Given the description of an element on the screen output the (x, y) to click on. 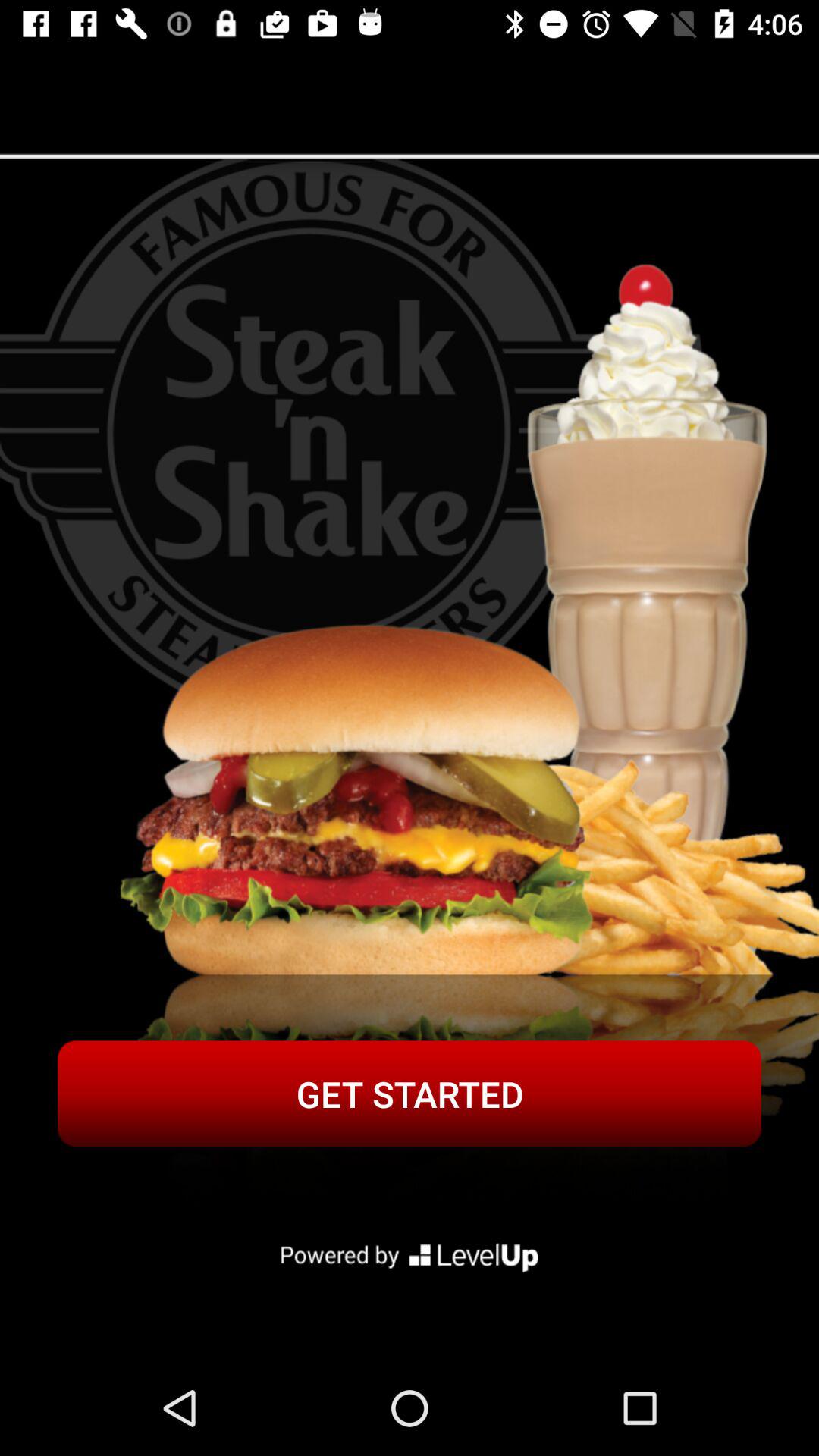
scroll until get started icon (409, 1093)
